Given the description of an element on the screen output the (x, y) to click on. 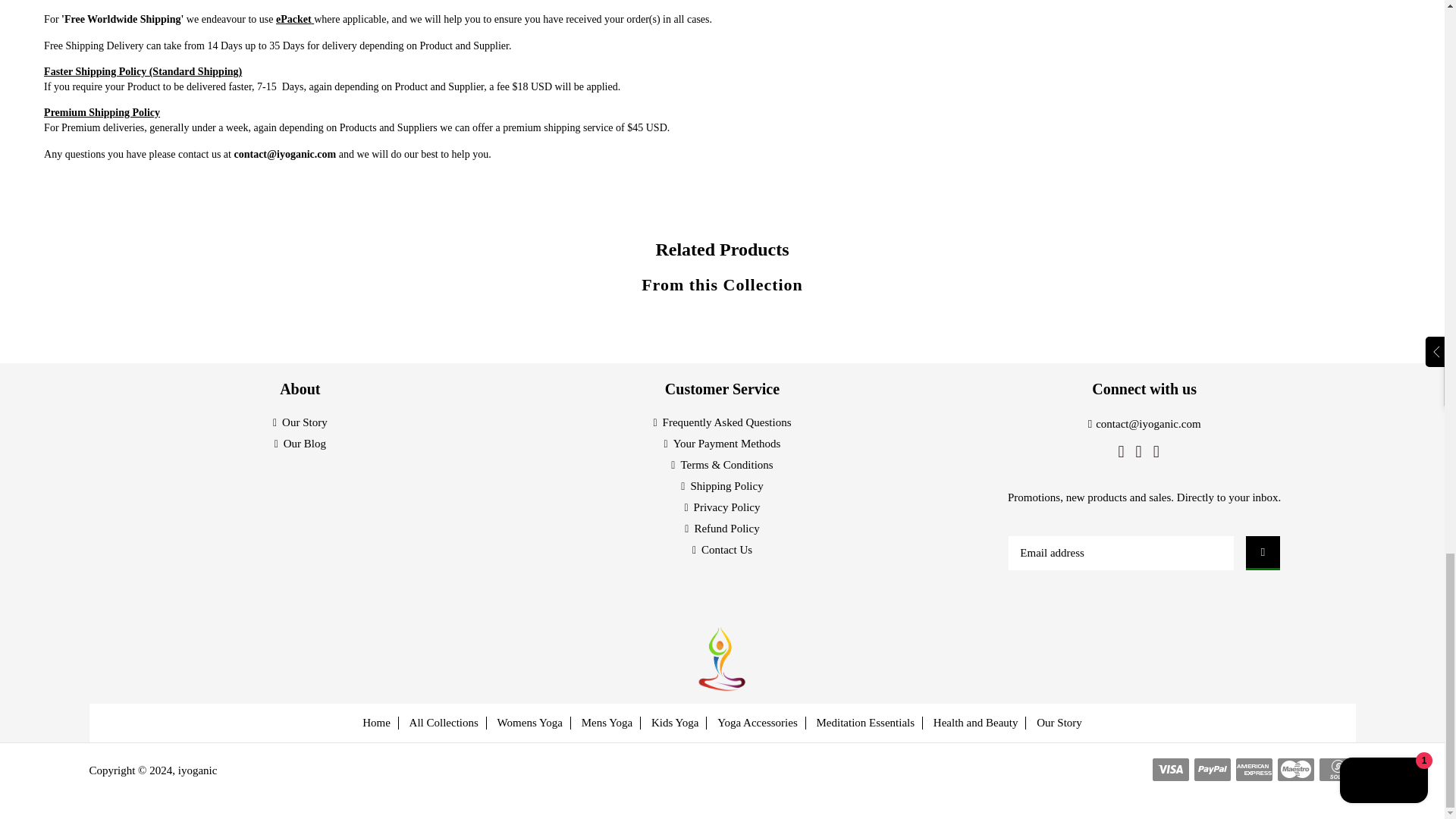
ePacket Tracking and other Information (295, 19)
